Given the description of an element on the screen output the (x, y) to click on. 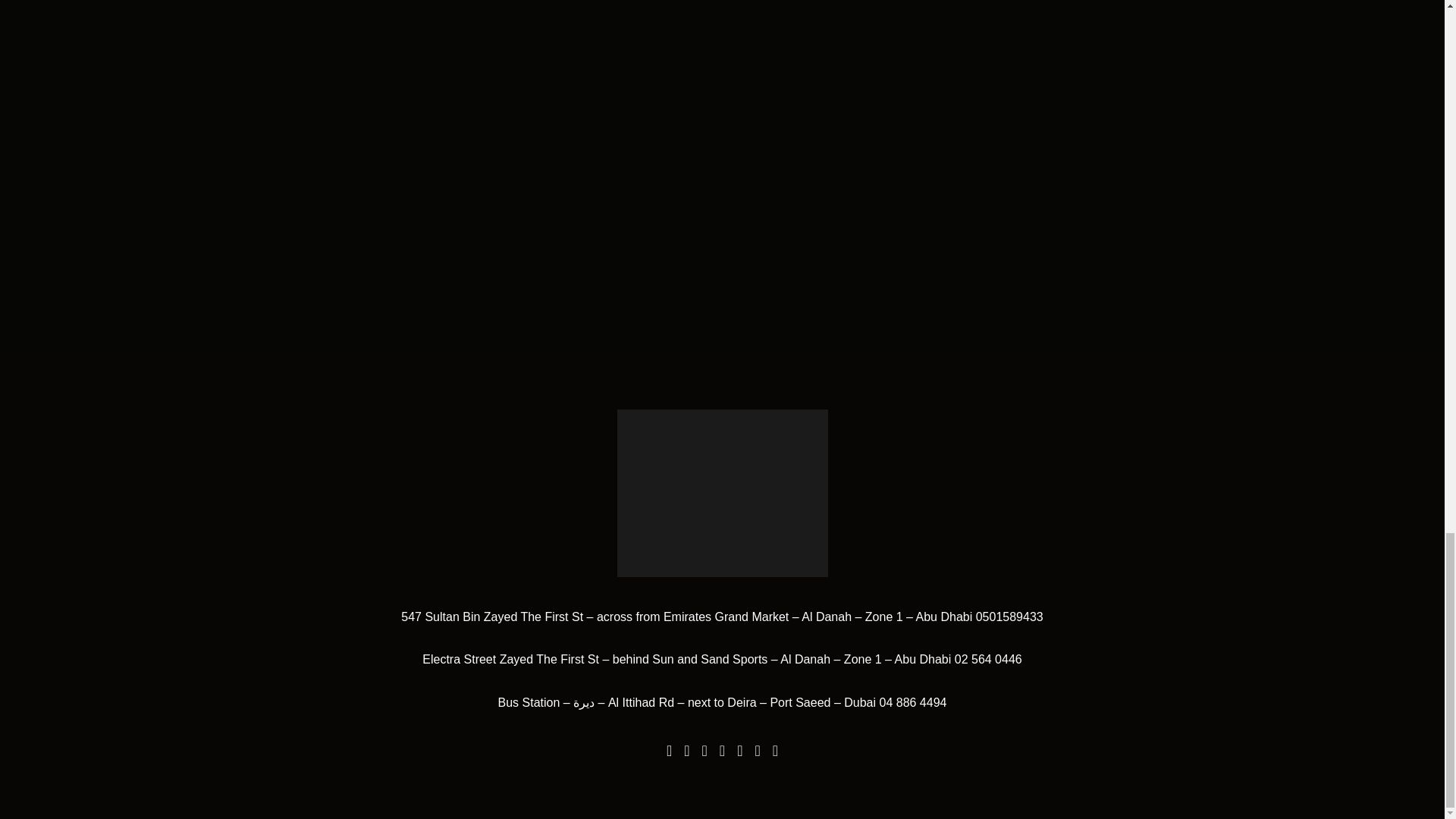
02 564 0446 (988, 658)
04 886 4494 (912, 702)
Facebook (668, 750)
Facebook (686, 750)
Instagram (757, 750)
Twitter (722, 750)
Instagram (775, 750)
YouTube (704, 750)
Twitter (739, 750)
